Given the description of an element on the screen output the (x, y) to click on. 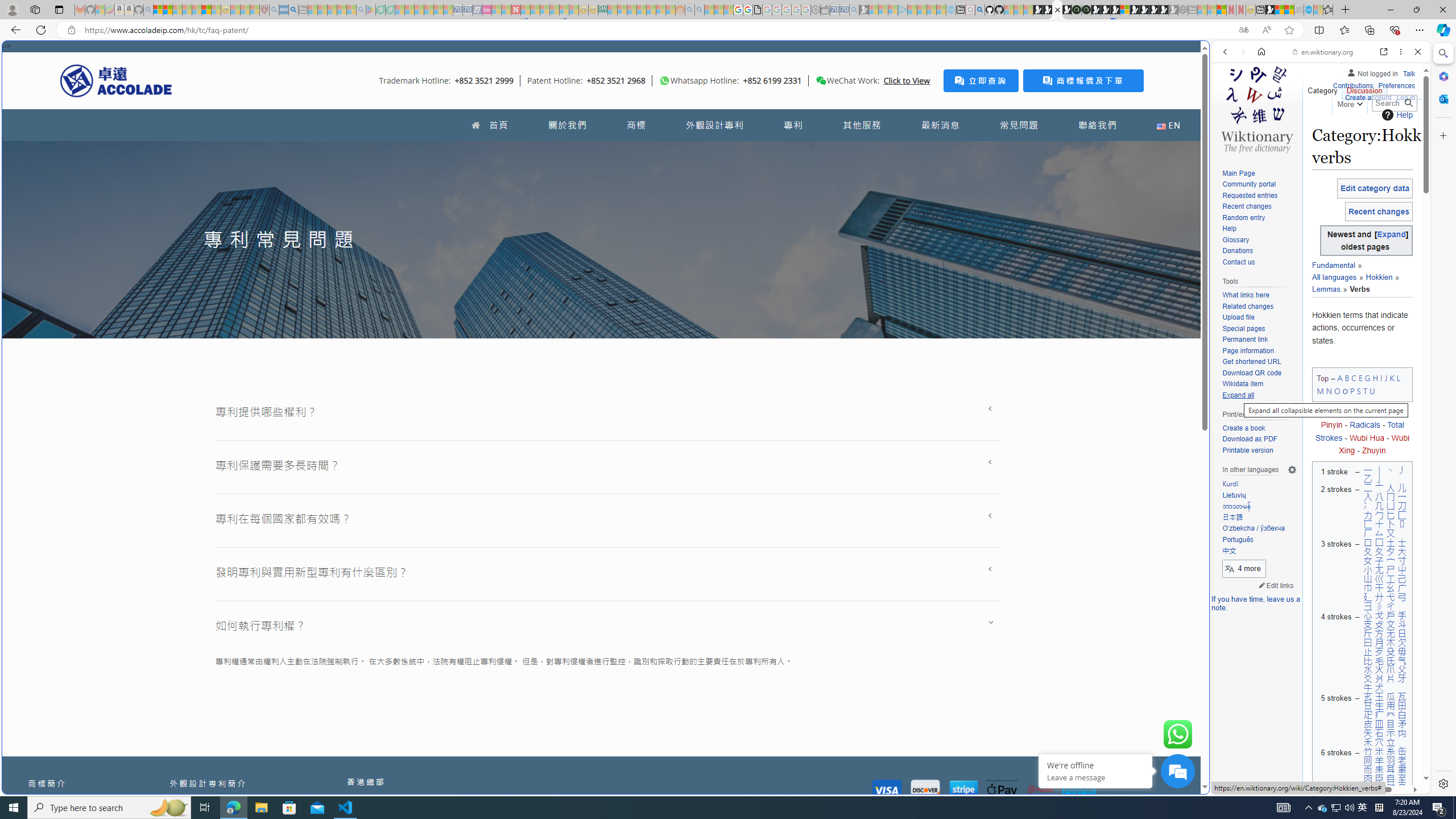
Class: desktop (821, 80)
What links here (1259, 295)
N (1329, 390)
Permanent link (1259, 339)
Contributions (1352, 85)
